Given the description of an element on the screen output the (x, y) to click on. 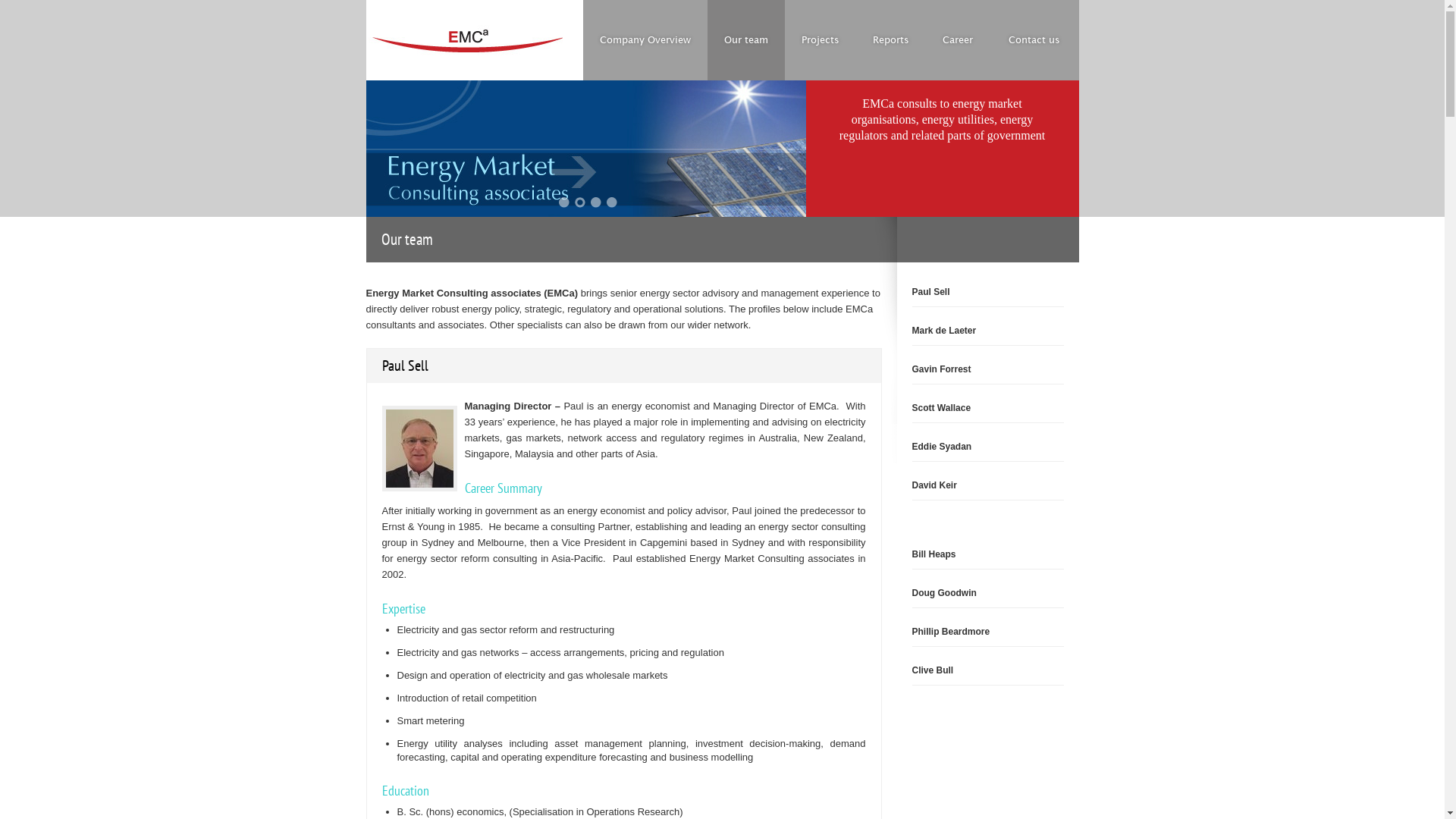
David Keir Element type: text (933, 485)
3 Element type: text (595, 202)
Scott Wallace Element type: text (940, 407)
Bill Heaps Element type: text (933, 554)
2 Element type: text (579, 202)
Phillip Beardmore Element type: text (950, 631)
Projects Element type: text (819, 40)
Gavin Forrest Element type: text (940, 369)
Mark de Laeter Element type: text (943, 330)
Doug Goodwin Element type: text (943, 592)
Eddie Syadan Element type: text (941, 446)
Paul Sell Element type: text (930, 291)
4 Element type: text (611, 202)
Our team Element type: text (745, 40)
Reports Element type: text (890, 40)
Clive Bull Element type: text (932, 670)
Company Overview Element type: text (644, 40)
1 Element type: text (563, 202)
Contact us Element type: text (1033, 40)
Career Element type: text (956, 40)
